Given the description of an element on the screen output the (x, y) to click on. 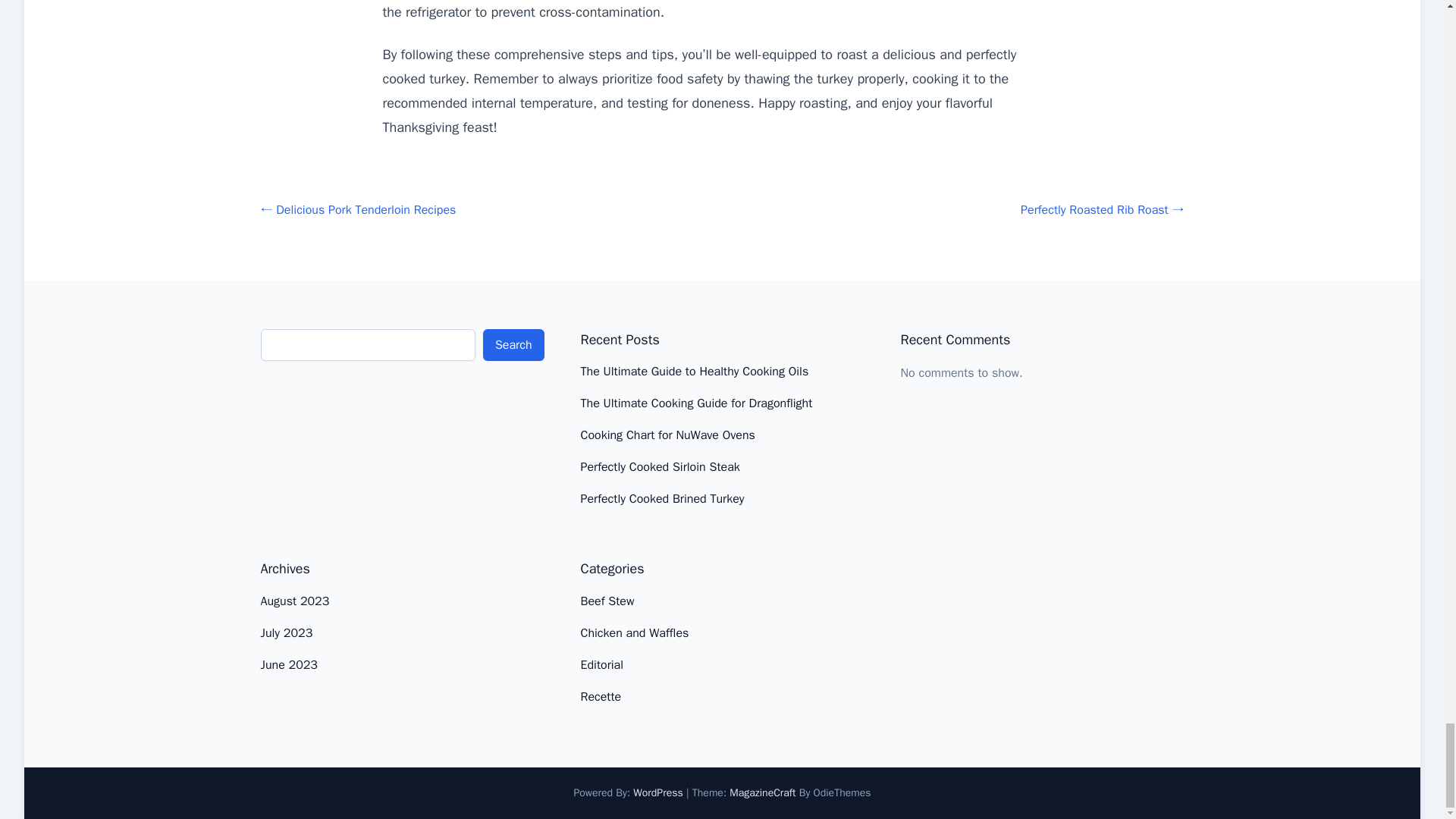
Cooking Chart for NuWave Ovens (667, 435)
Beef Stew (607, 601)
Recette (600, 696)
Search (513, 345)
The Ultimate Cooking Guide for Dragonflight (696, 403)
The Ultimate Guide to Healthy Cooking Oils (694, 371)
June 2023 (288, 664)
MagazineCraft (761, 792)
Perfectly Cooked Sirloin Steak (659, 467)
August 2023 (295, 601)
Editorial (602, 664)
Perfectly Cooked Brined Turkey (662, 498)
July 2023 (286, 632)
WordPress (657, 792)
Chicken and Waffles (634, 632)
